Given the description of an element on the screen output the (x, y) to click on. 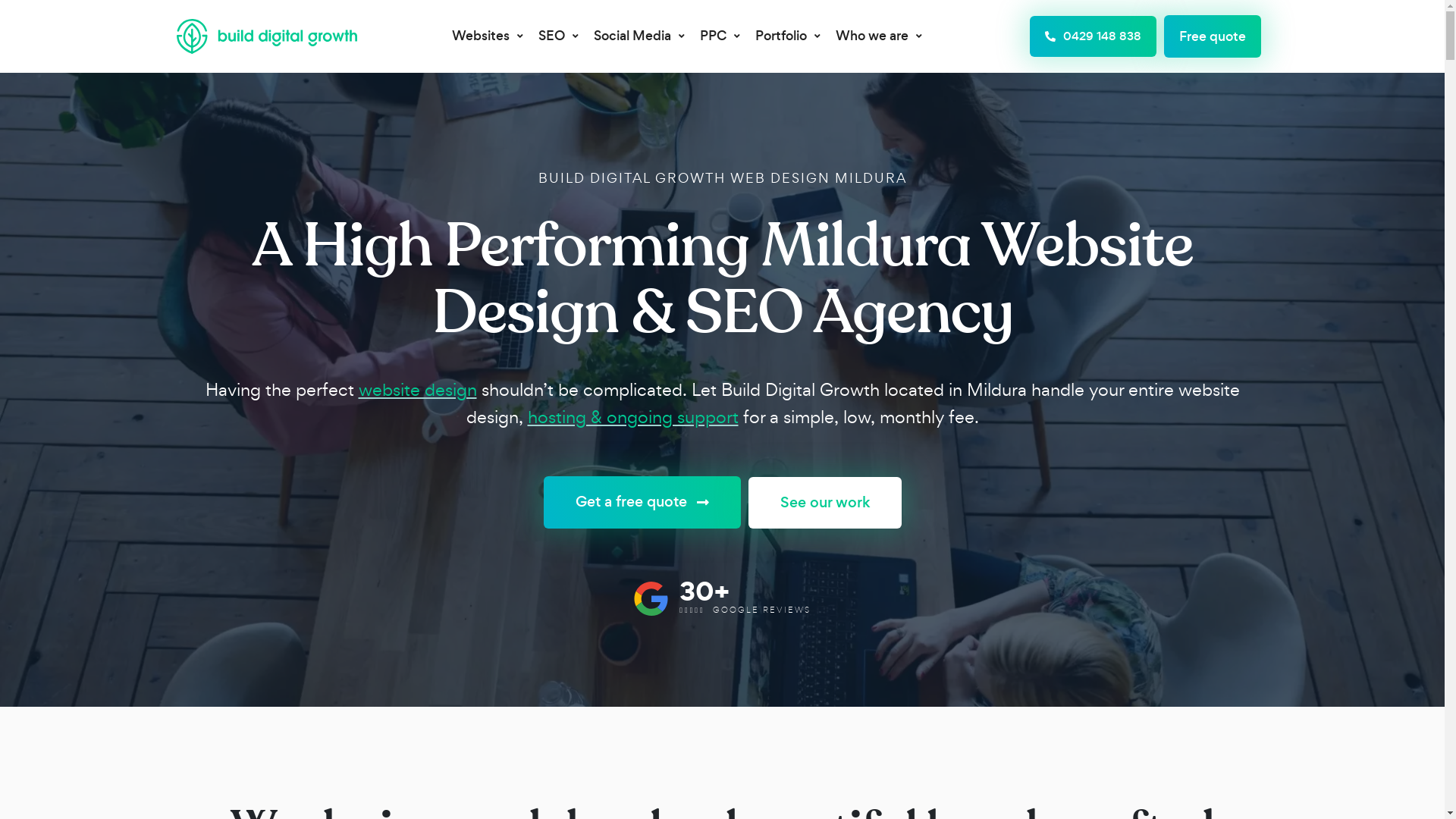
Social Media Element type: text (639, 35)
Who we are Element type: text (878, 35)
Free quote Element type: text (1212, 36)
Get a free quote Element type: text (641, 502)
SEO Element type: text (558, 35)
hosting & ongoing support Element type: text (632, 416)
Websites Element type: text (487, 35)
GOOGLE REVIEWS Element type: text (761, 609)
See our work Element type: text (823, 502)
Portfolio Element type: text (787, 35)
Home 1 Element type: hover (650, 598)
0429 148 838 Element type: text (1092, 35)
website design Element type: text (416, 389)
PPC Element type: text (719, 35)
